Given the description of an element on the screen output the (x, y) to click on. 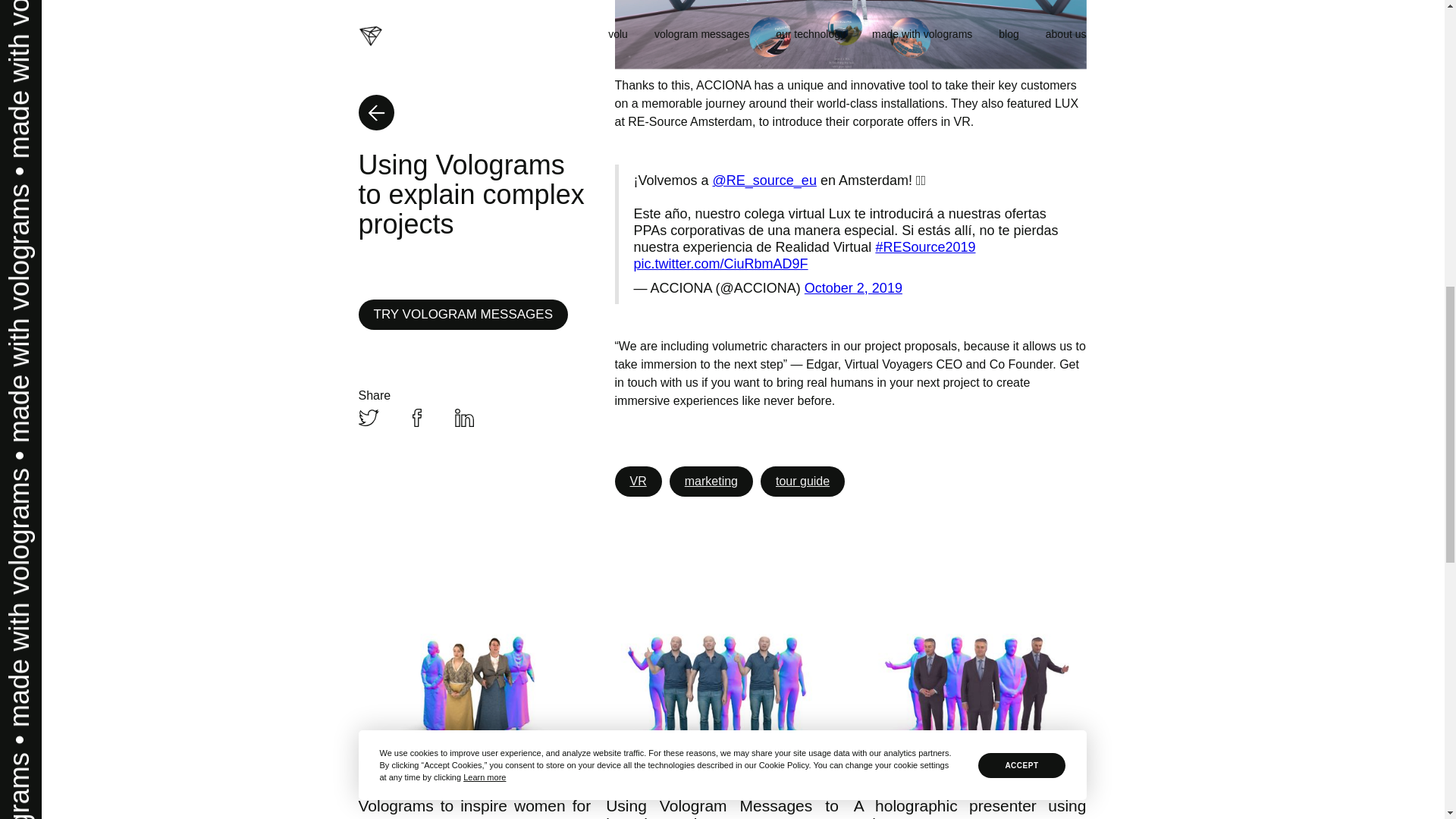
VR (637, 481)
tour guide (802, 481)
October 2, 2019 (853, 287)
marketing (711, 481)
